Given the description of an element on the screen output the (x, y) to click on. 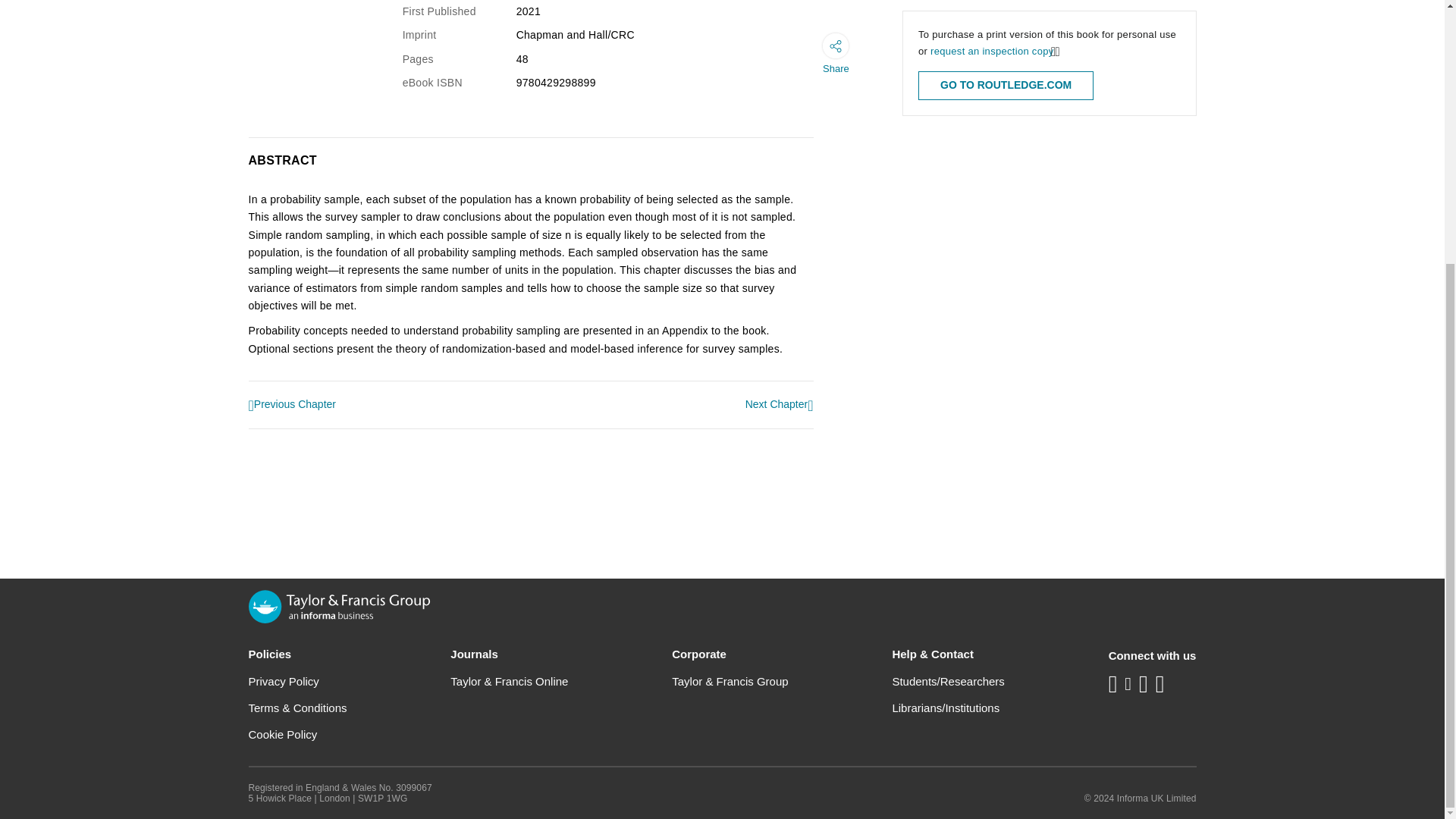
Stratified Sampling (779, 404)
Introduction (292, 405)
request an inspection copy (991, 50)
GO TO ROUTLEDGE.COM (1005, 85)
Next Chapter (779, 404)
Privacy Policy (283, 681)
Cookie Policy (282, 734)
Previous Chapter (292, 405)
